Given the description of an element on the screen output the (x, y) to click on. 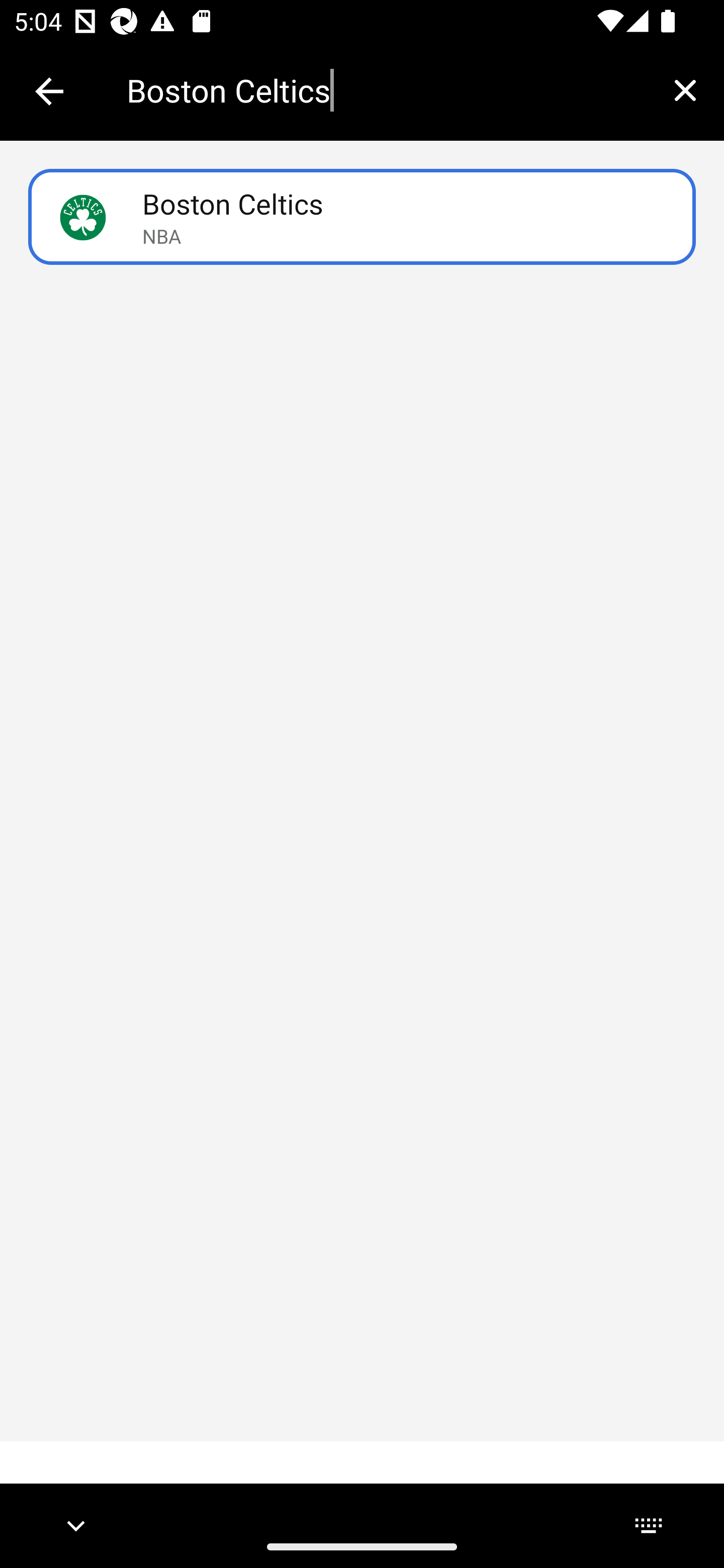
Collapse (49, 91)
Clear query (685, 89)
Boston Celtics (386, 90)
Boston Celtics Boston CelticsSelected NBA (361, 216)
